Given the description of an element on the screen output the (x, y) to click on. 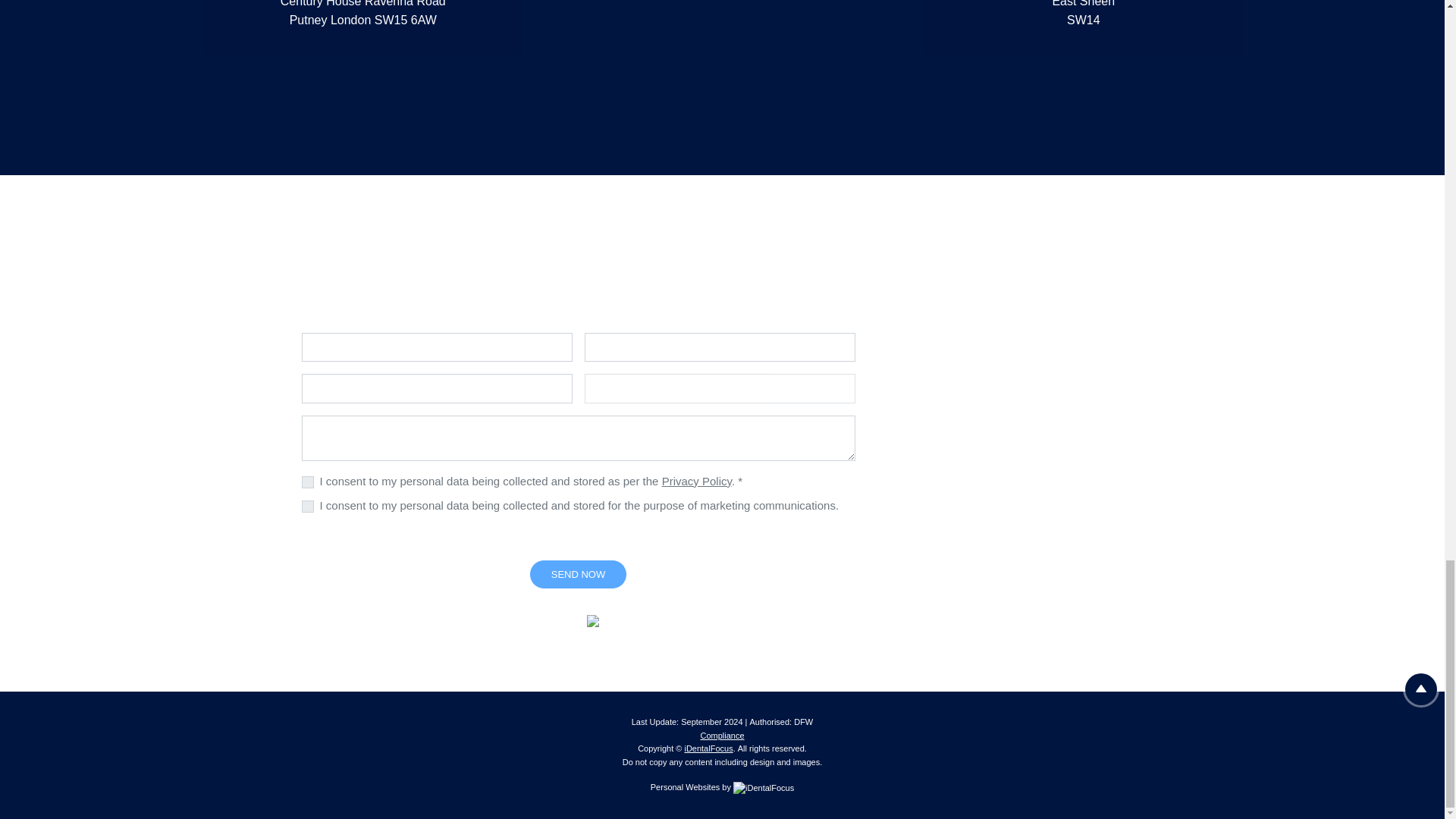
Compliance (722, 735)
Personal Websites by (721, 786)
Send Now (578, 574)
Telephone (718, 347)
Send Now (578, 574)
Privacy Policy (697, 481)
iDentalFocus (708, 747)
